Given the description of an element on the screen output the (x, y) to click on. 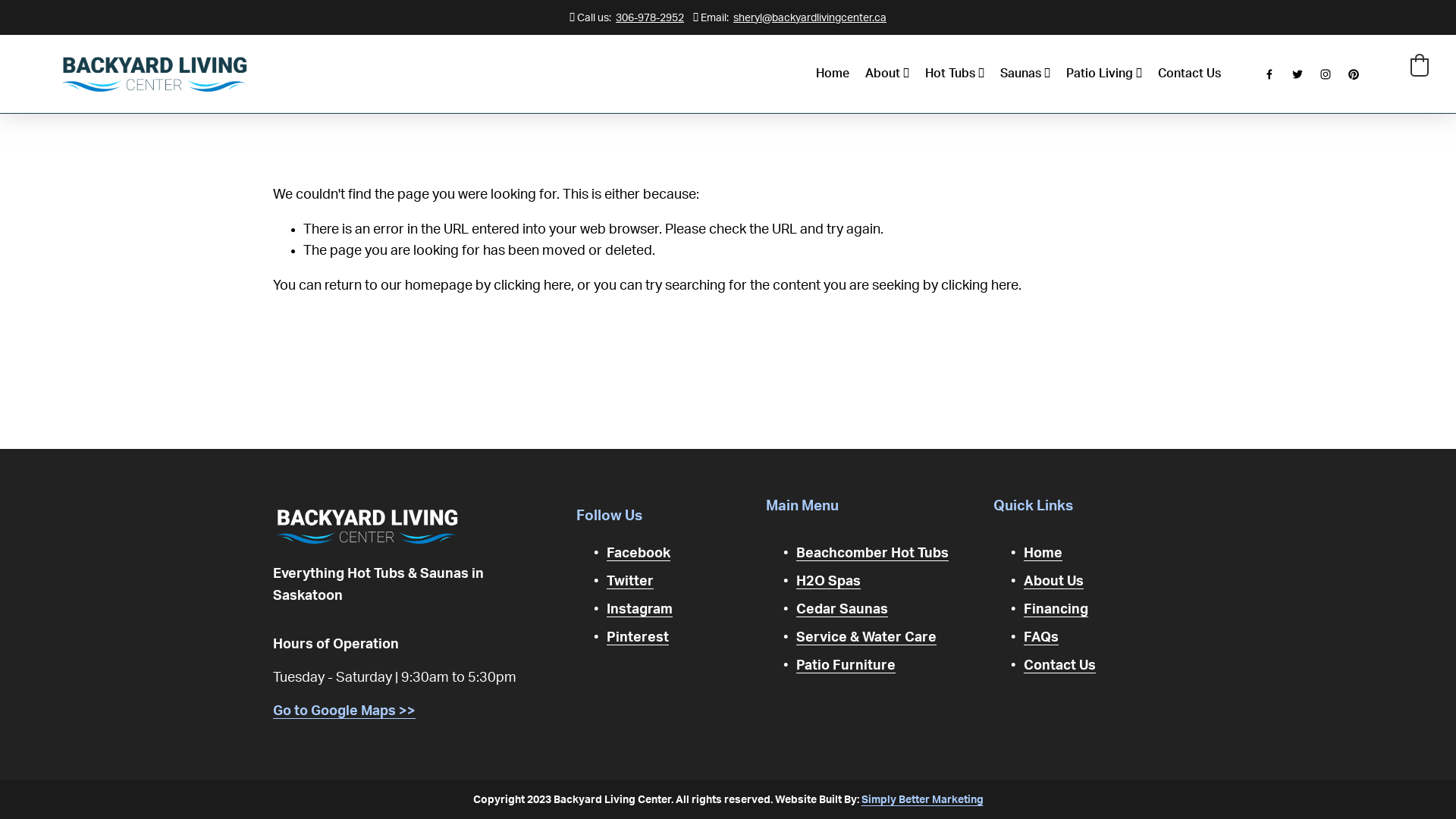
Saunas Element type: text (1025, 74)
Contact Us Element type: text (1059, 665)
Contact Us Element type: text (1188, 74)
306-978-2952 Element type: text (649, 17)
Cedar Saunas Element type: text (842, 609)
Patio Living Element type: text (1104, 74)
Go to Google Maps >> Element type: text (344, 710)
Home Element type: text (1042, 553)
clicking here Element type: text (979, 285)
FAQs Element type: text (1040, 637)
About Us Element type: text (1053, 581)
Home Element type: text (832, 74)
Facebook Element type: text (638, 553)
Financing Element type: text (1055, 609)
H2O Spas Element type: text (828, 581)
Patio Furniture Element type: text (845, 665)
Beachcomber Hot Tubs Element type: text (872, 553)
About Element type: text (887, 74)
Service & Water Care Element type: text (866, 637)
Pinterest Element type: text (637, 637)
Hot Tubs Element type: text (954, 74)
Instagram Element type: text (639, 609)
sheryl@backyardlivingcenter.ca Element type: text (809, 17)
Twitter Element type: text (629, 581)
clicking here Element type: text (532, 285)
Simply Better Marketing Element type: text (922, 799)
